Given the description of an element on the screen output the (x, y) to click on. 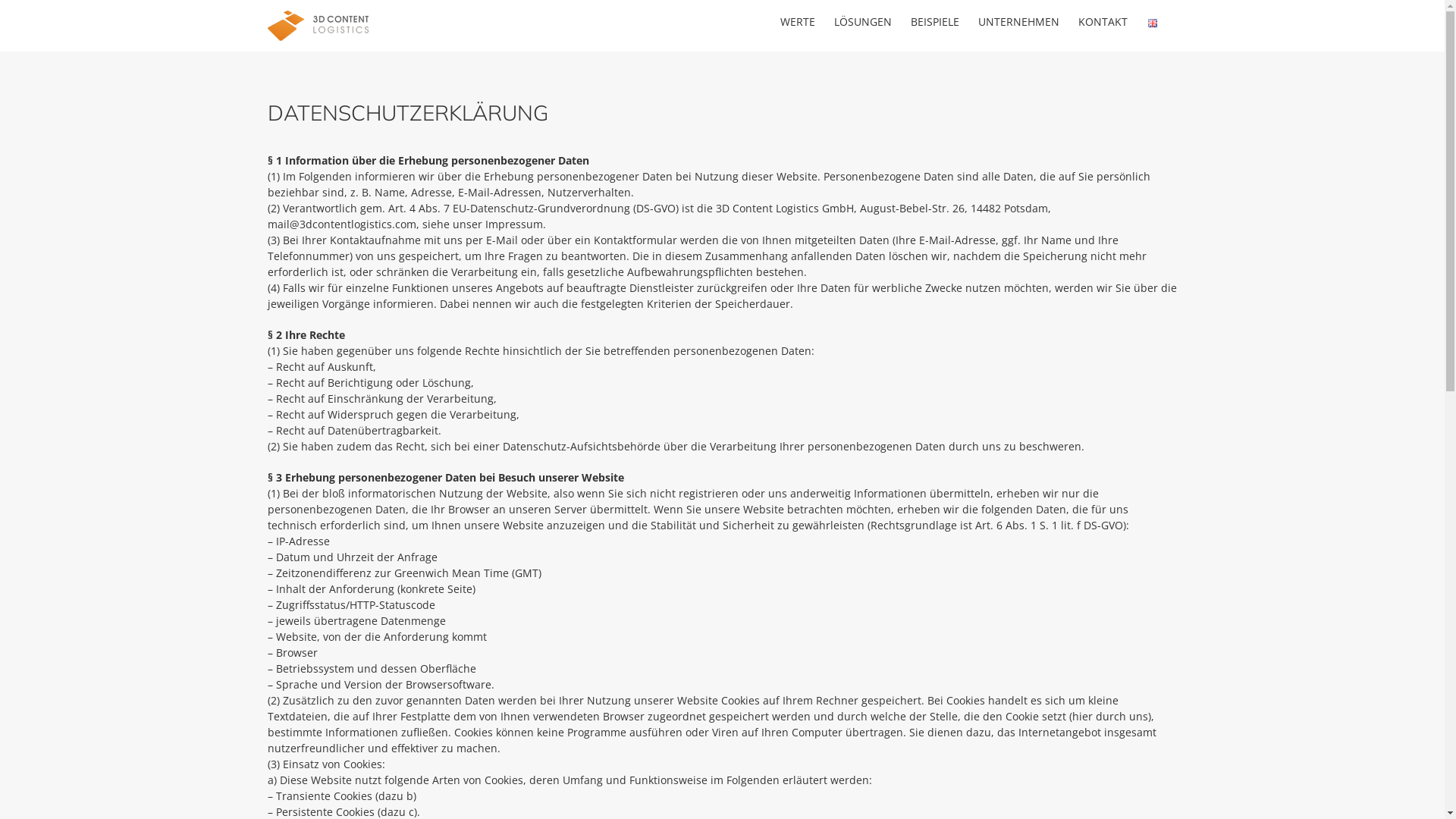
WERTE Element type: text (796, 20)
UNTERNEHMEN Element type: text (1018, 20)
BEISPIELE Element type: text (934, 20)
KONTAKT Element type: text (1102, 20)
